Given the description of an element on the screen output the (x, y) to click on. 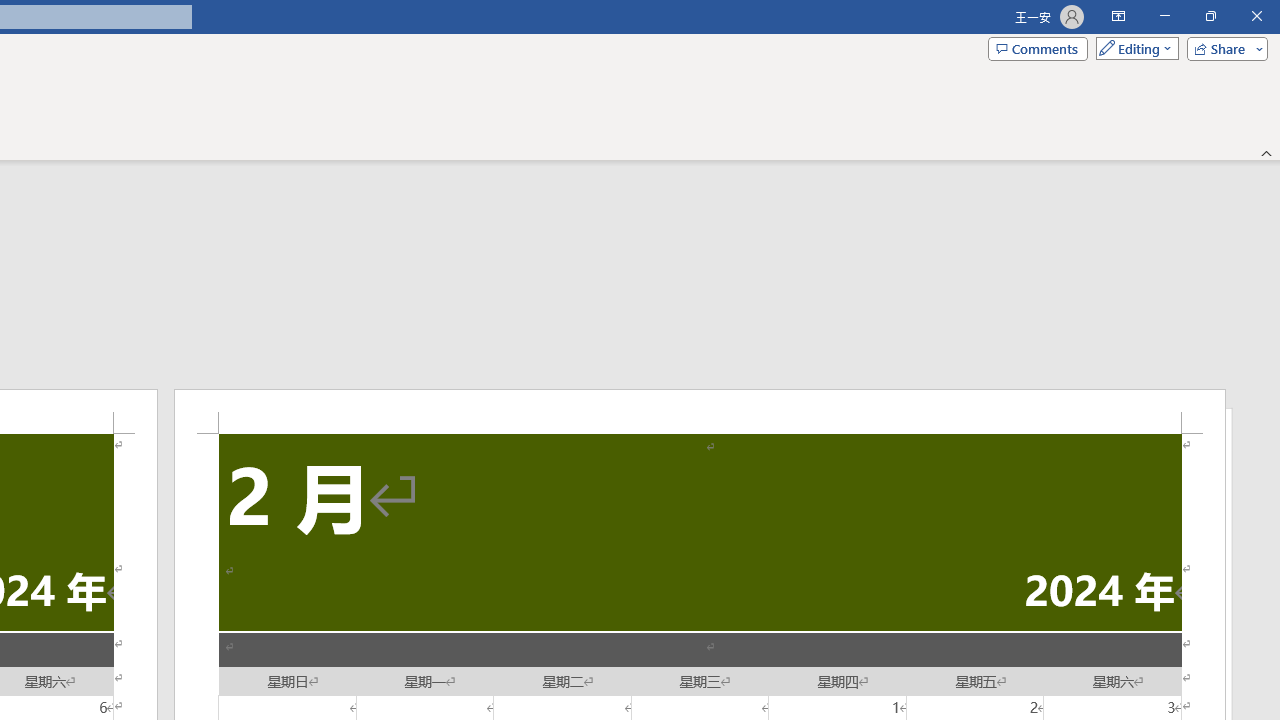
Mode (1133, 47)
Header -Section 2- (700, 411)
